Given the description of an element on the screen output the (x, y) to click on. 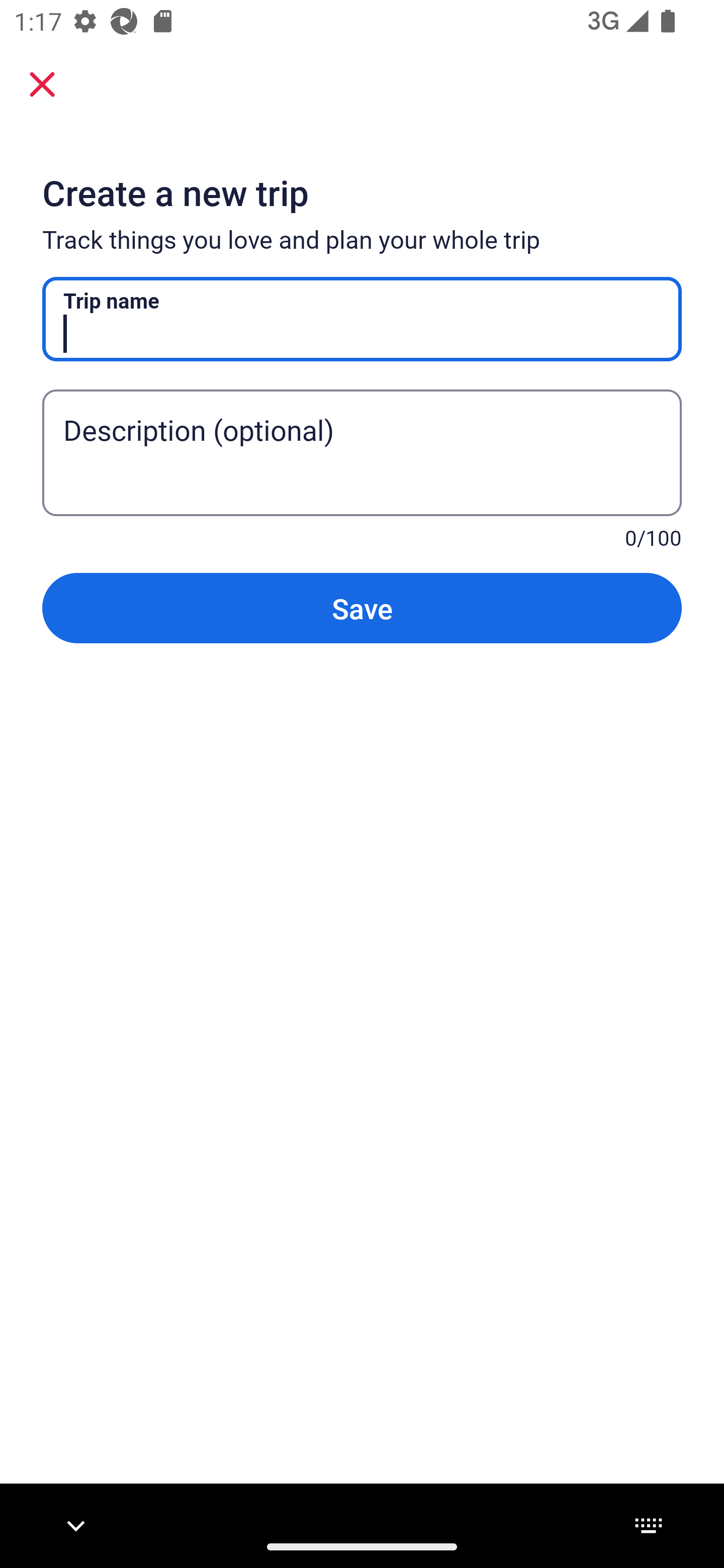
Close (42, 84)
Trip name (361, 318)
Save Button Save (361, 607)
